Given the description of an element on the screen output the (x, y) to click on. 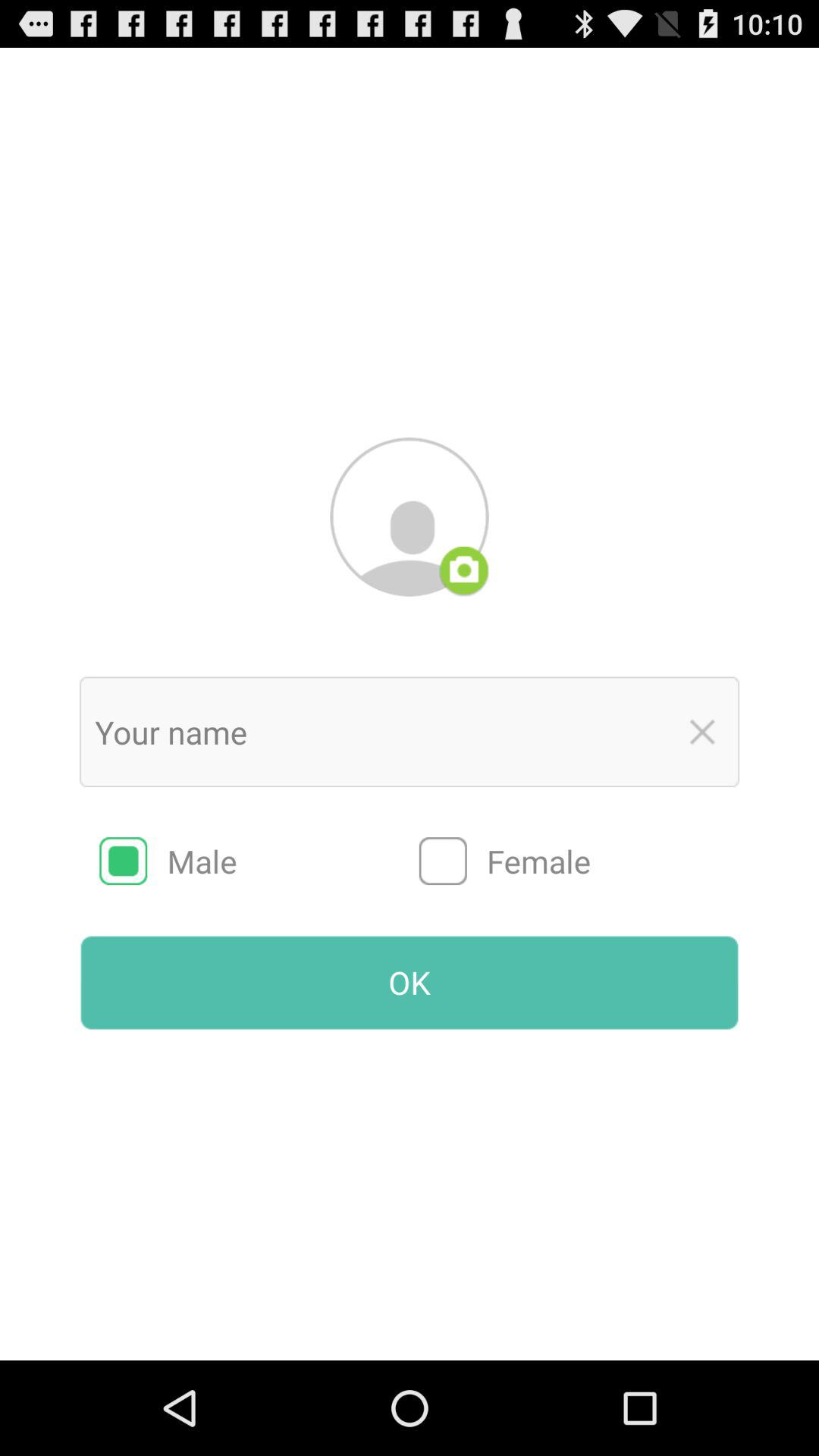
turn on the item above the ok (579, 860)
